Given the description of an element on the screen output the (x, y) to click on. 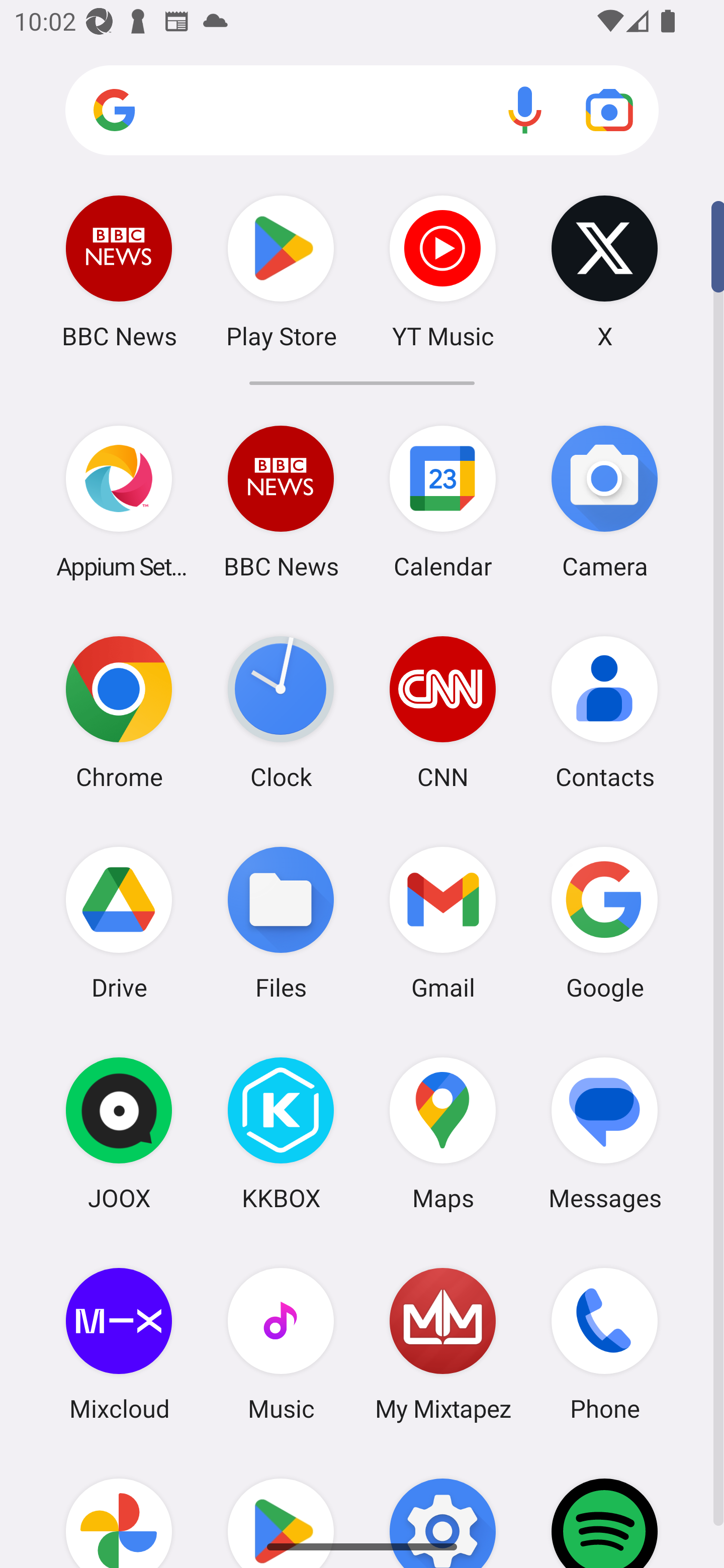
Voice search (524, 109)
Google Lens (608, 109)
BBC News (118, 270)
Play Store (280, 270)
YT Music (443, 270)
X (604, 270)
Appium Settings (118, 501)
BBC News (280, 501)
Calendar (443, 501)
Camera (604, 501)
Chrome (118, 711)
Clock (280, 711)
CNN (443, 711)
Contacts (604, 711)
Drive (118, 922)
Files (280, 922)
Gmail (443, 922)
Google (604, 922)
JOOX (118, 1133)
KKBOX (280, 1133)
Maps (443, 1133)
Messages (604, 1133)
Mixcloud (118, 1343)
Music (280, 1343)
My Mixtapez (443, 1343)
Phone (604, 1343)
